Given the description of an element on the screen output the (x, y) to click on. 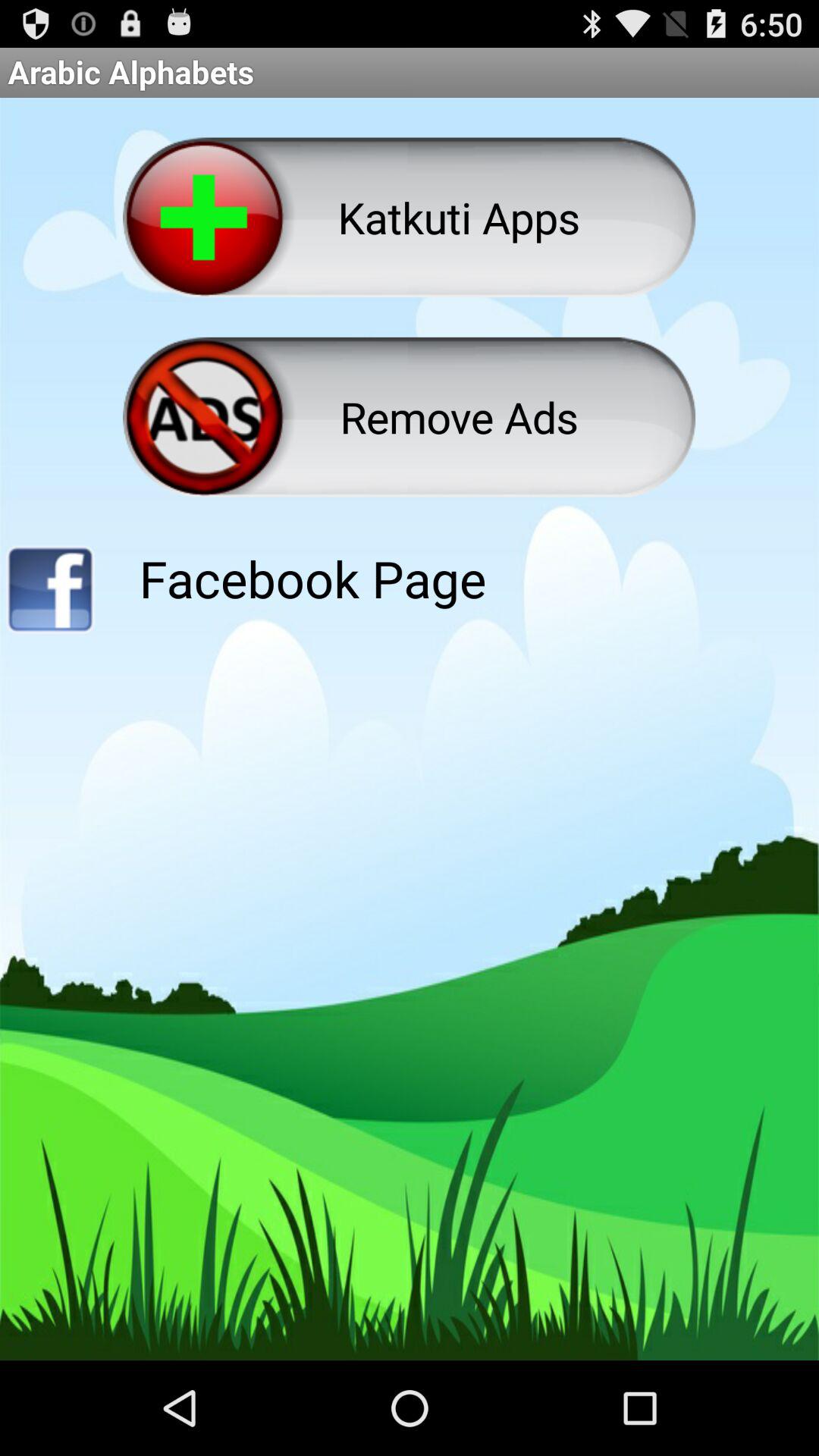
link to facebook page (49, 594)
